Given the description of an element on the screen output the (x, y) to click on. 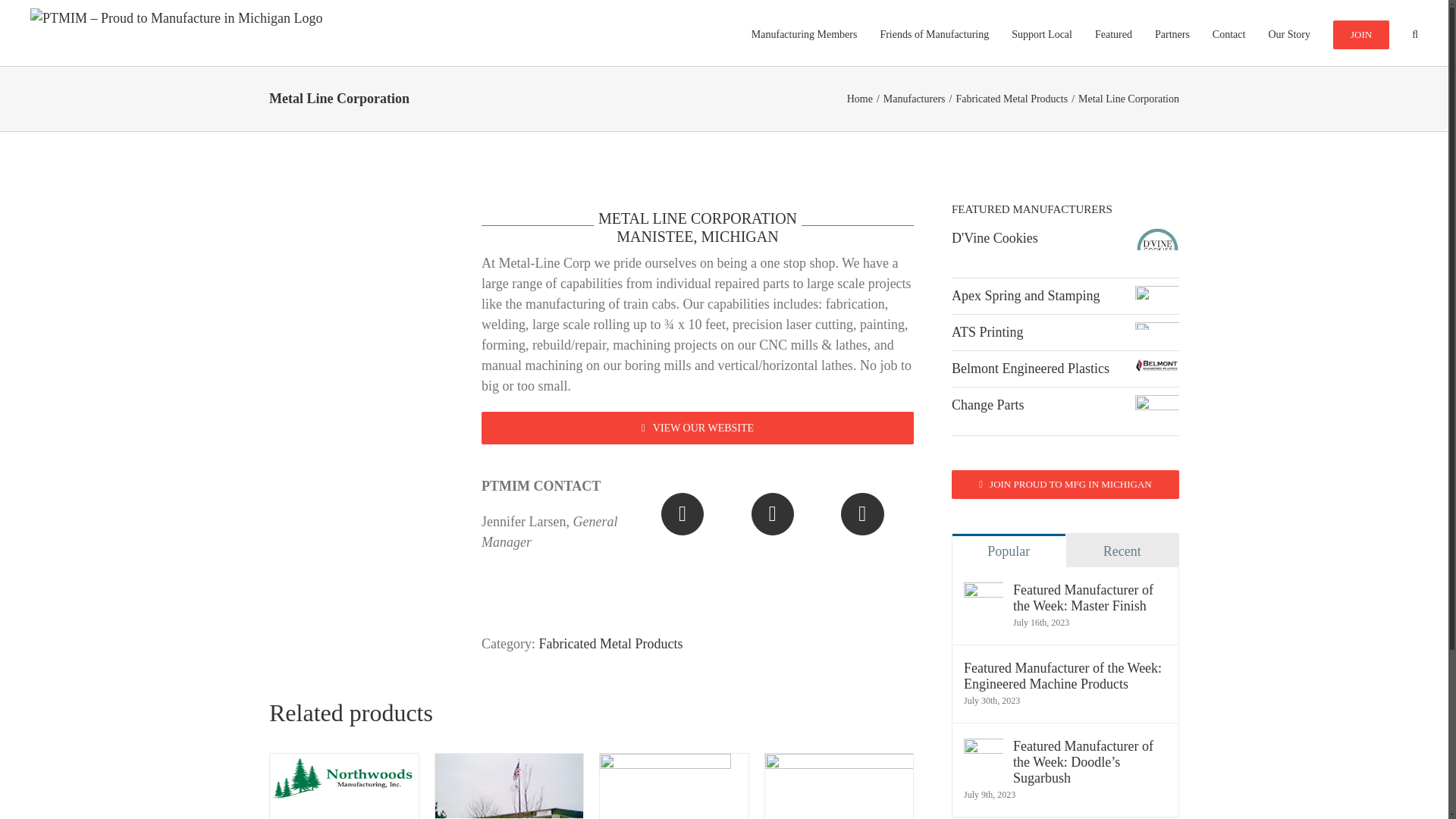
Support Local (1041, 33)
VIEW OUR WEBSITE (697, 537)
Fabricated Metal Products (697, 427)
Manufacturers (1011, 98)
Home (913, 98)
Manufacturing Members (859, 98)
Fabricated Metal Products (804, 33)
Friends of Manufacturing (610, 643)
